Given the description of an element on the screen output the (x, y) to click on. 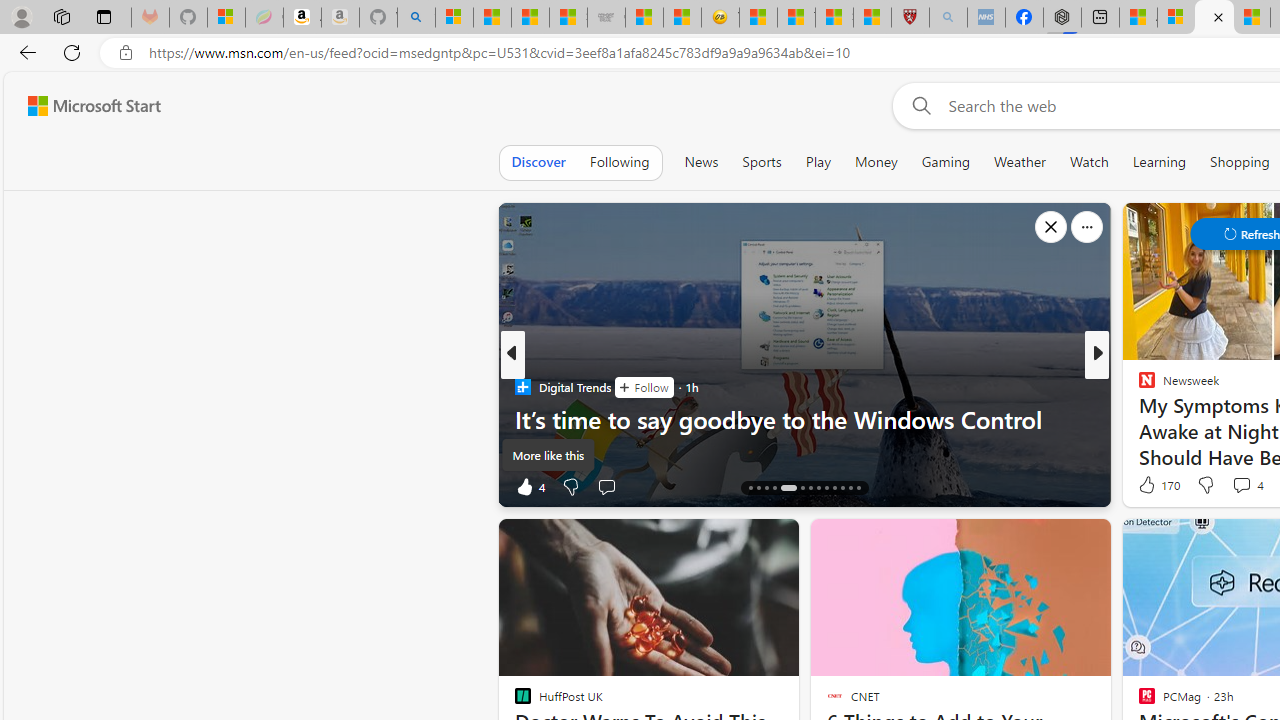
Pocket-lint (1138, 418)
View comments 85 Comment (11, 485)
View comments 42 Comment (1244, 486)
AutomationID: tab-25 (850, 487)
Kinda Frugal (1138, 418)
